Given the description of an element on the screen output the (x, y) to click on. 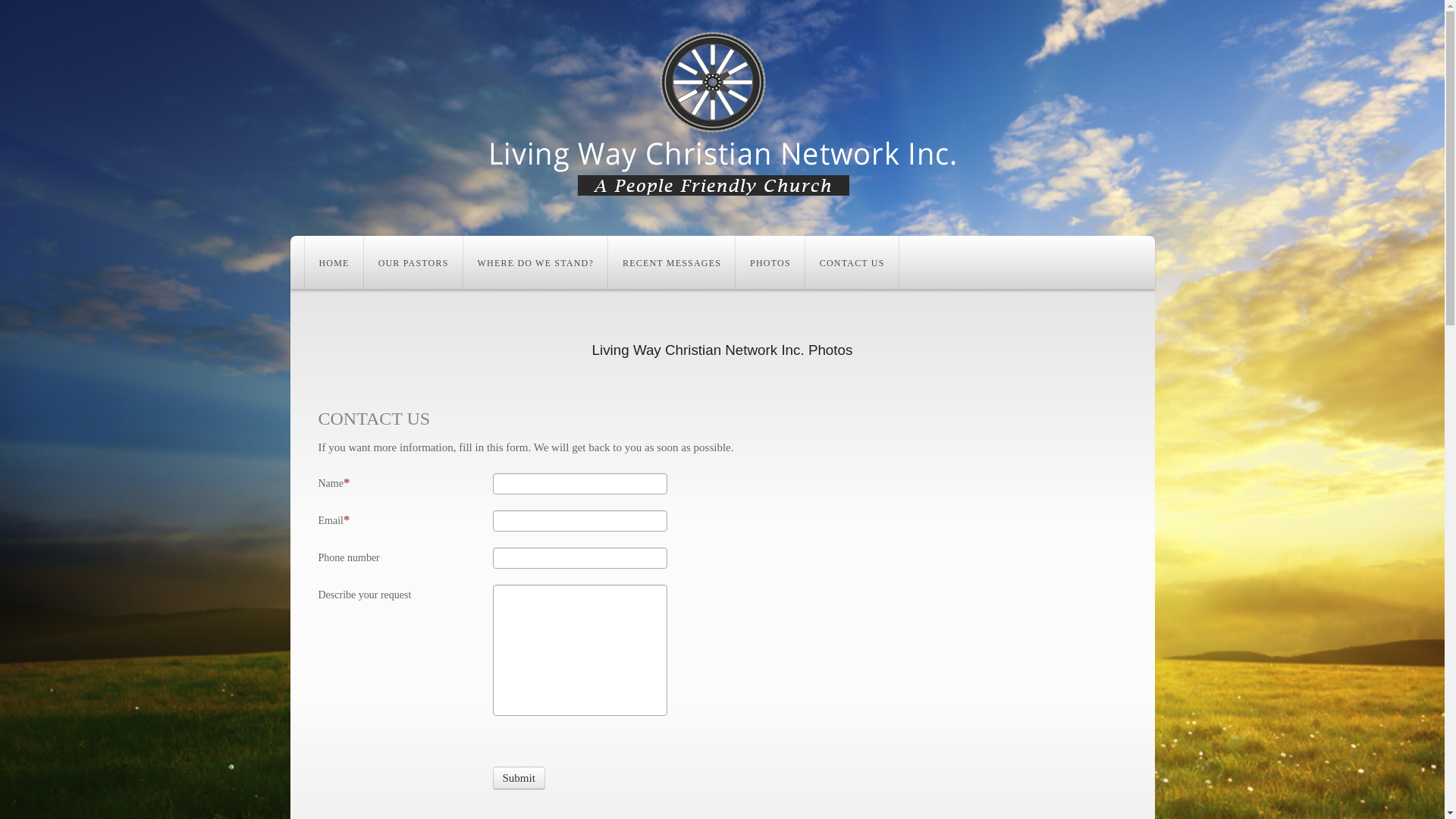
WHERE DO WE STAND? Element type: text (535, 262)
CONTACT US Element type: text (852, 262)
PHOTOS Element type: text (770, 262)
OUR PASTORS Element type: text (413, 262)
HOME Element type: text (333, 262)
Submit Element type: text (518, 777)
RECENT MESSAGES Element type: text (671, 262)
